Given the description of an element on the screen output the (x, y) to click on. 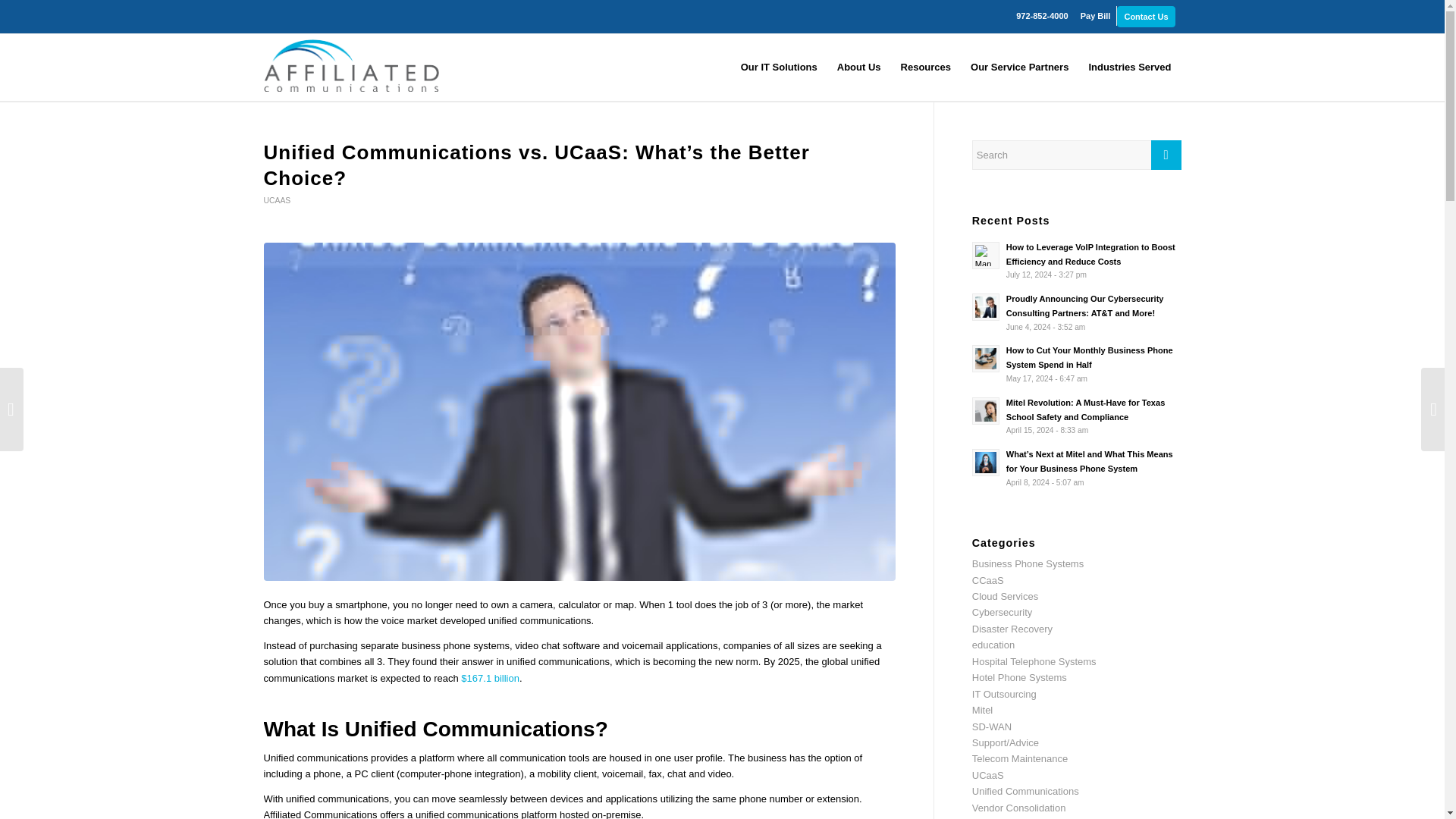
Our IT Solutions (778, 67)
About Us (859, 67)
Contact Us (1145, 16)
972-852-4000 (1042, 15)
Pay Bill (1095, 15)
